Given the description of an element on the screen output the (x, y) to click on. 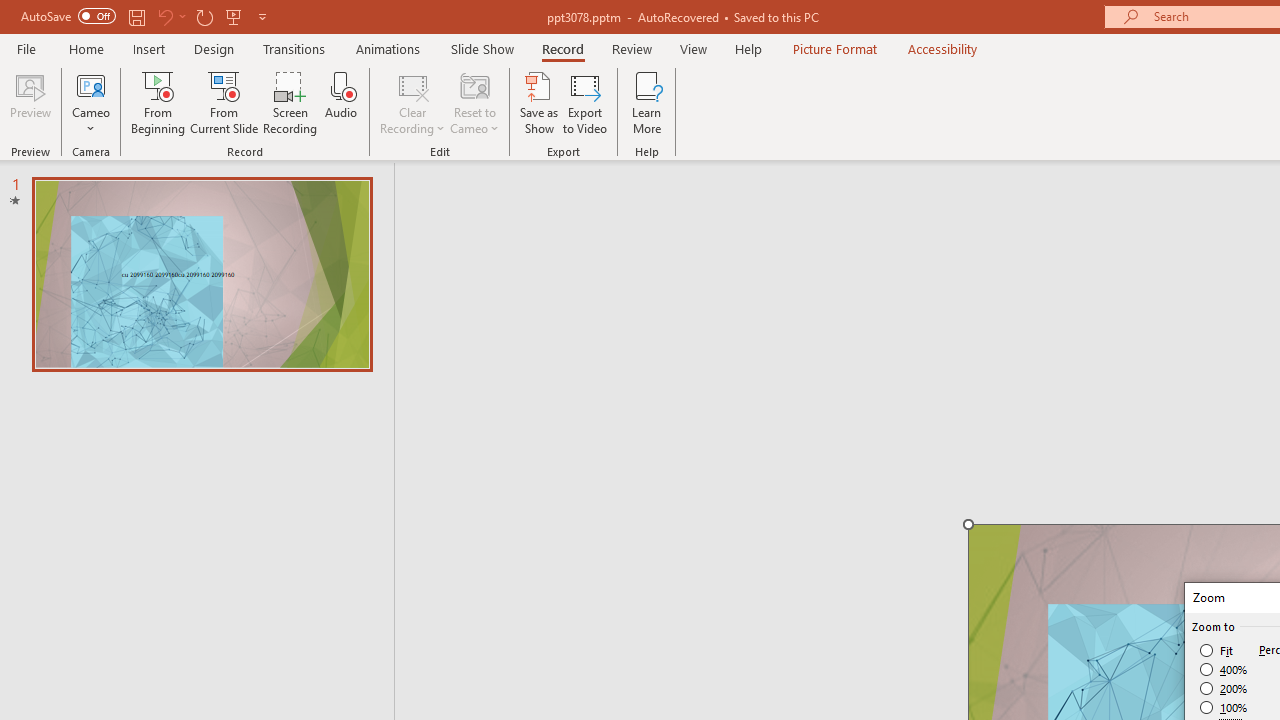
Preview (30, 102)
Cameo (91, 84)
Save as Show (539, 102)
Audio (341, 102)
100% (1224, 707)
